Given the description of an element on the screen output the (x, y) to click on. 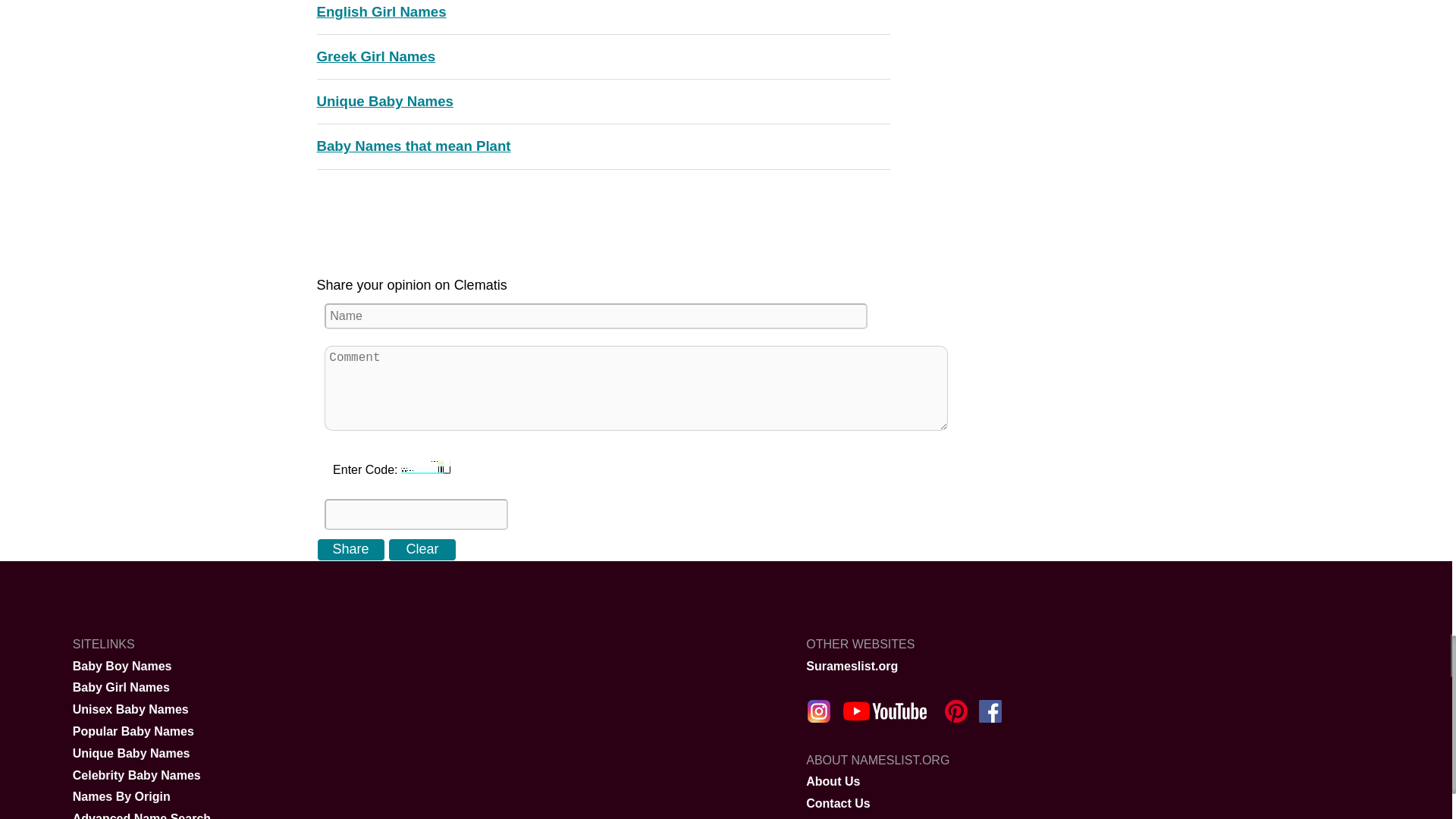
Share (351, 549)
Clear (422, 549)
